Given the description of an element on the screen output the (x, y) to click on. 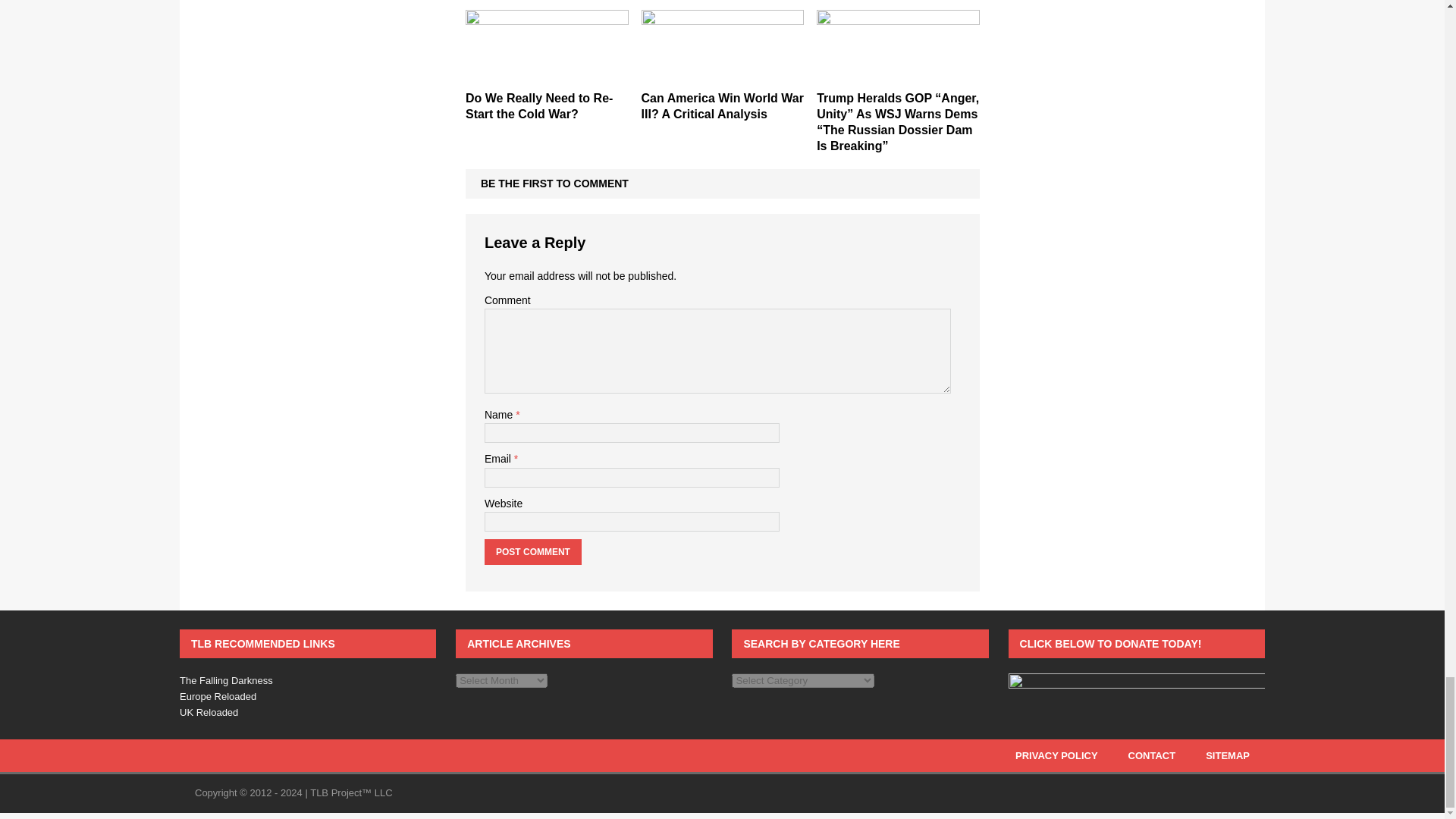
Post Comment (532, 551)
Do We Really Need to Re-Start the Cold War? (538, 105)
Can America Win World War III? A Critical Analysis (722, 105)
Can America Win World War III? A Critical Analysis (723, 74)
Do We Really Need to Re-Start the Cold War? (546, 74)
